Given the description of an element on the screen output the (x, y) to click on. 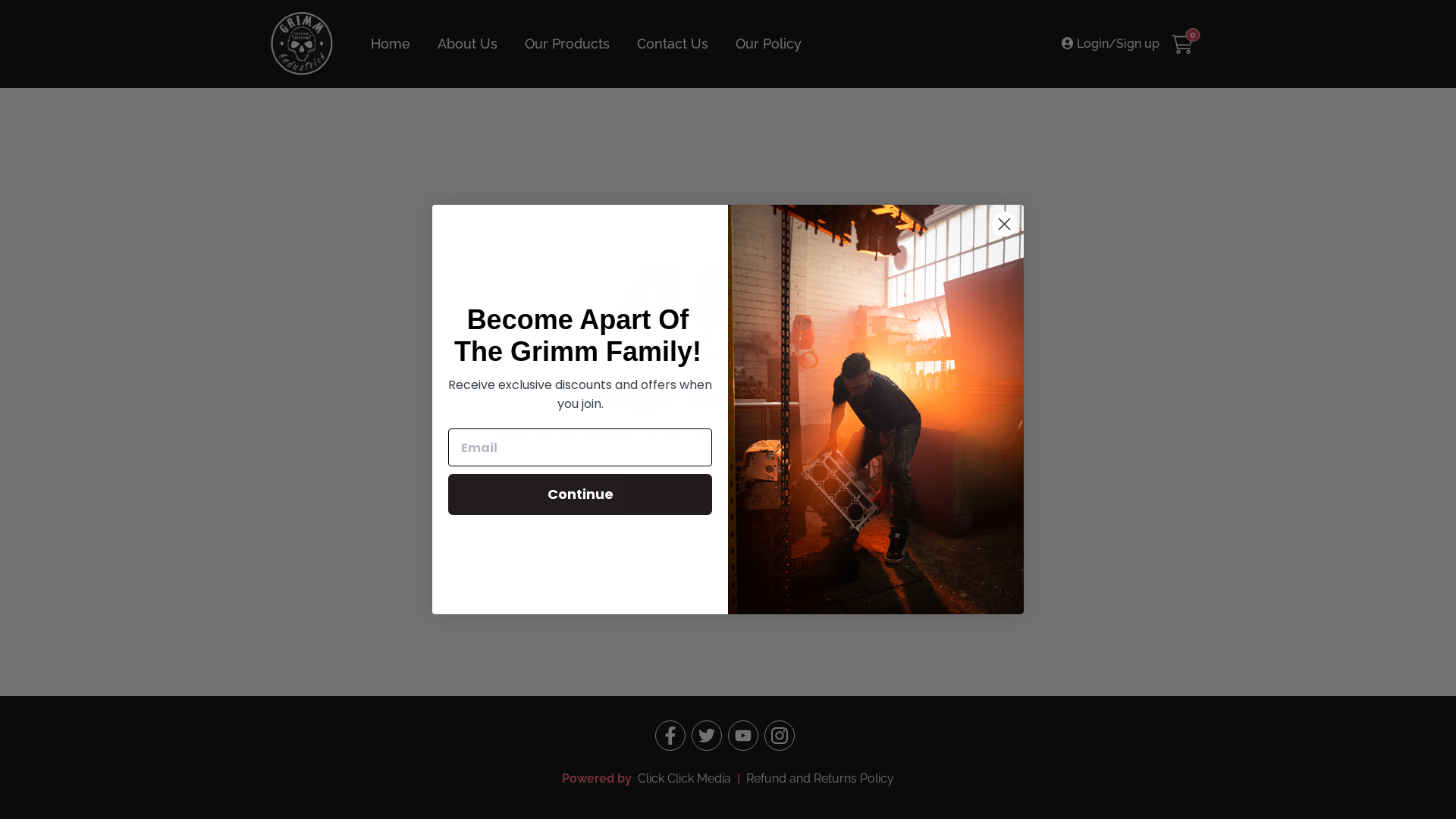
Close dialog 1 Element type: text (1004, 223)
Refund and Returns Policy Element type: text (820, 778)
GO BACK TO HOMEPAGE Element type: text (728, 495)
Login/Sign up Element type: text (1110, 43)
About Us Element type: text (467, 43)
Click Click Media Element type: text (682, 778)
Our Products Element type: text (566, 43)
Home Element type: text (390, 43)
Contact Us Element type: text (672, 43)
Continue Element type: text (580, 493)
0 Element type: text (1181, 43)
Our Policy Element type: text (768, 43)
Submit Element type: text (21, 8)
